Given the description of an element on the screen output the (x, y) to click on. 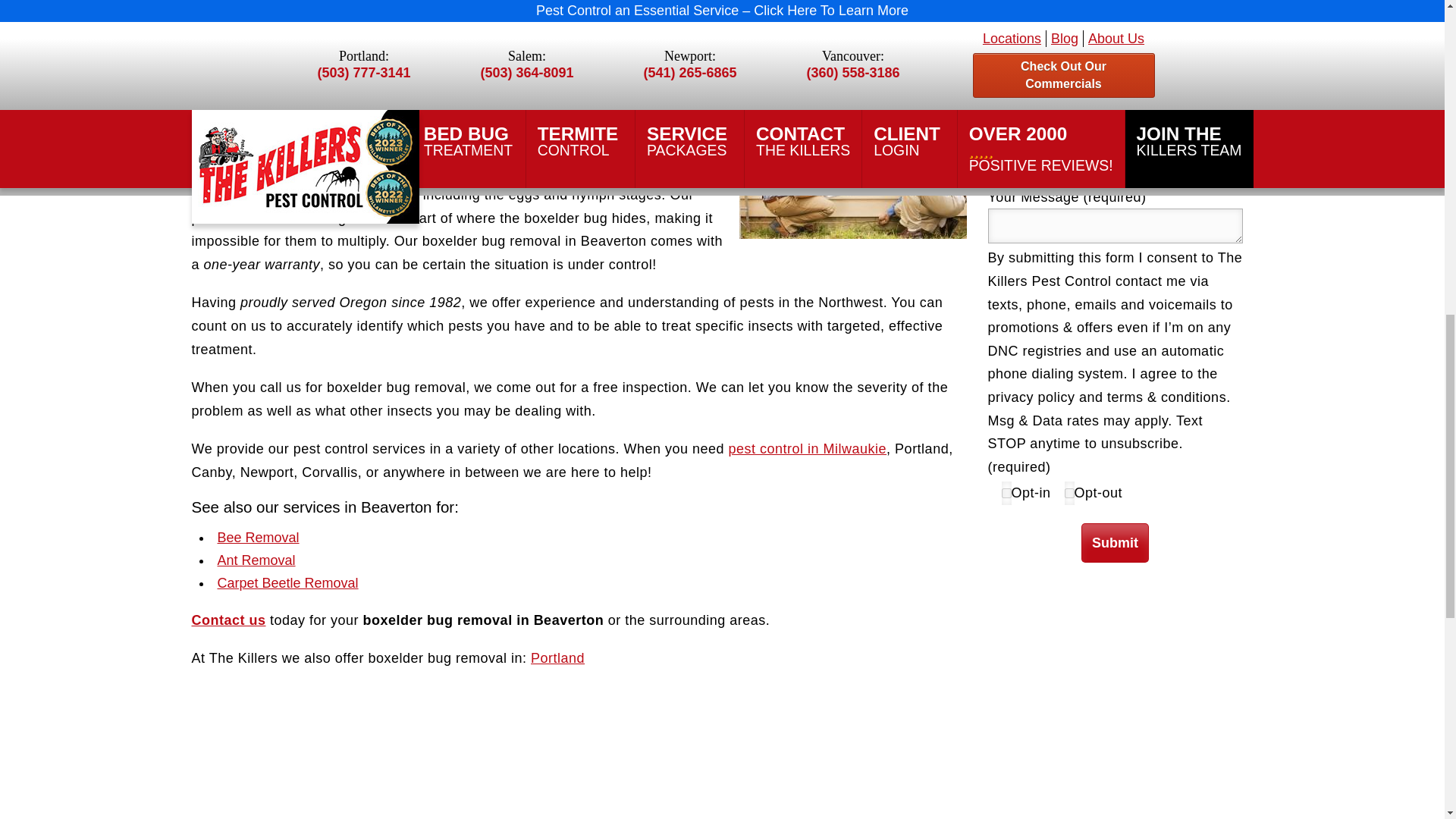
Contact Us (227, 620)
Boxelder Bug Removal Beaverton by The Killers (852, 162)
pest control in Milwaukie (807, 448)
Ant Removal Beaverton (255, 560)
Portland (558, 657)
Opt-out (1069, 493)
Link To Pest Control Milwaukie (807, 448)
Carpet Beetle Removal (287, 582)
Bee Removal (257, 537)
Submit (1114, 542)
Opt-in (1005, 493)
Contact us (227, 620)
Carpet Beetle Removal Beaverton (287, 582)
Ant Removal (255, 560)
Submit (1114, 542)
